Given the description of an element on the screen output the (x, y) to click on. 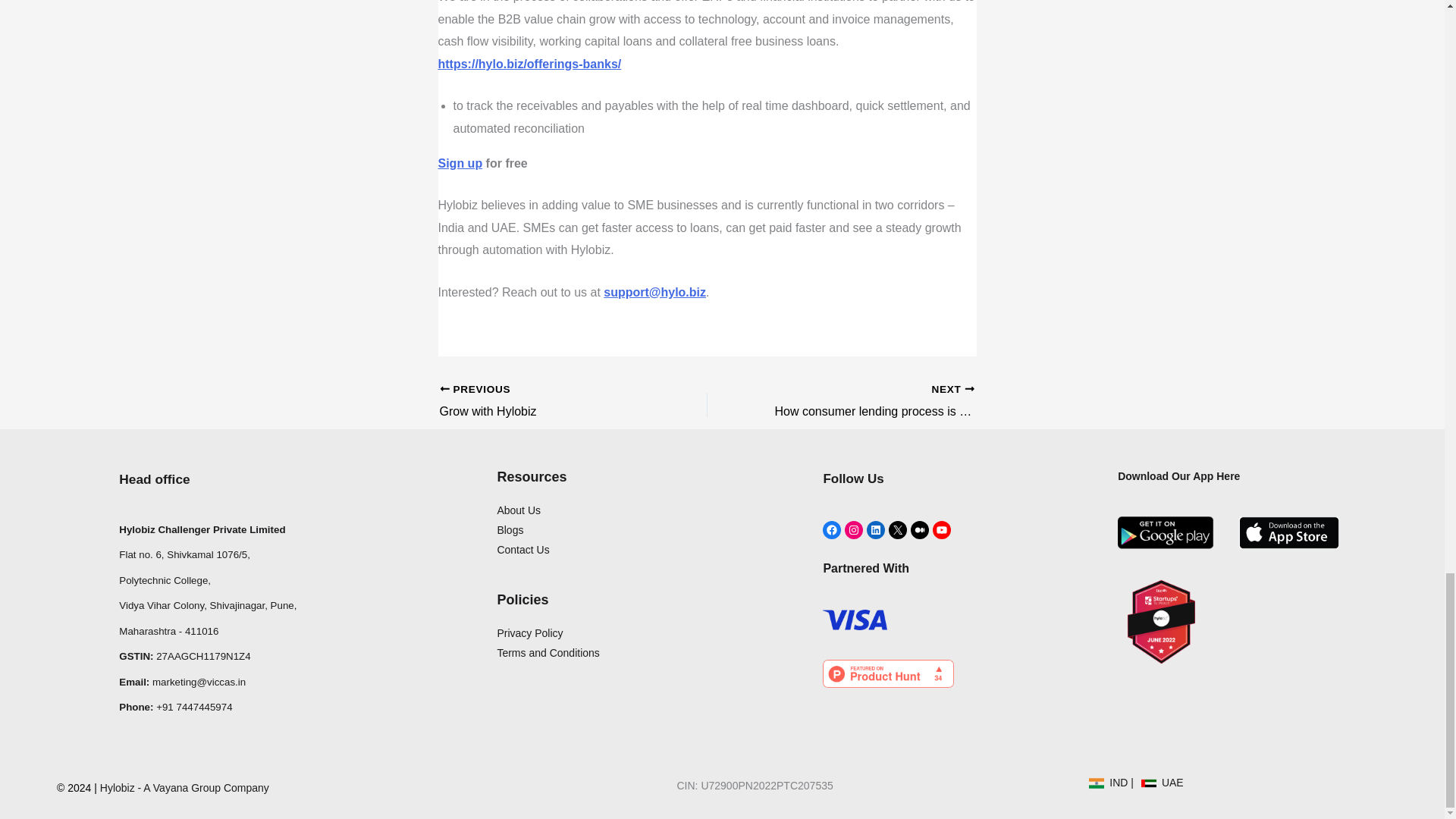
Privacy Policy (529, 633)
YouTube (941, 529)
Contact Us (522, 549)
Sign up (460, 163)
Facebook (831, 529)
LinkedIn (875, 529)
Instagram (547, 401)
Medium (853, 529)
